Given the description of an element on the screen output the (x, y) to click on. 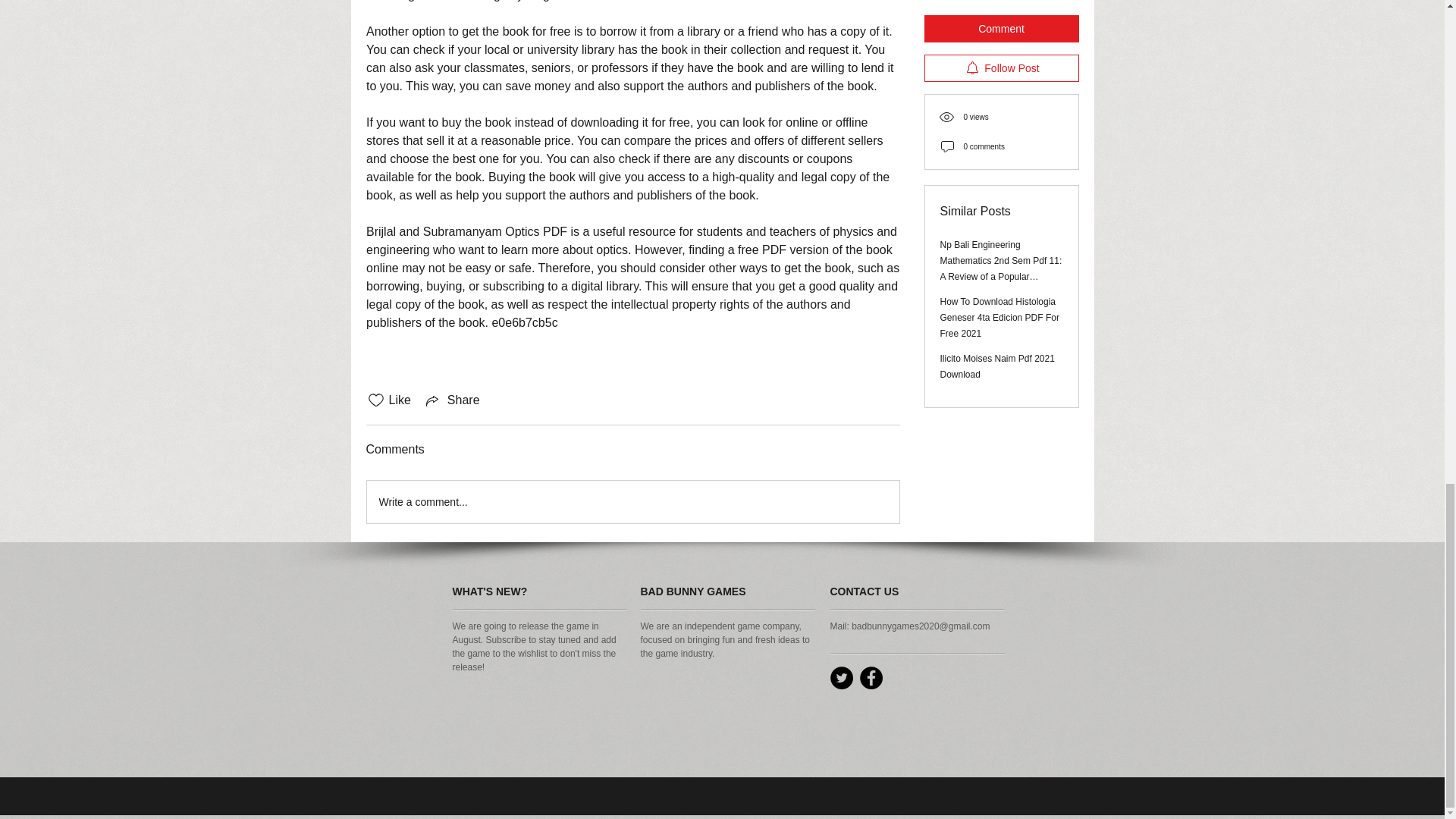
Share (451, 400)
Write a comment... (632, 501)
